Given the description of an element on the screen output the (x, y) to click on. 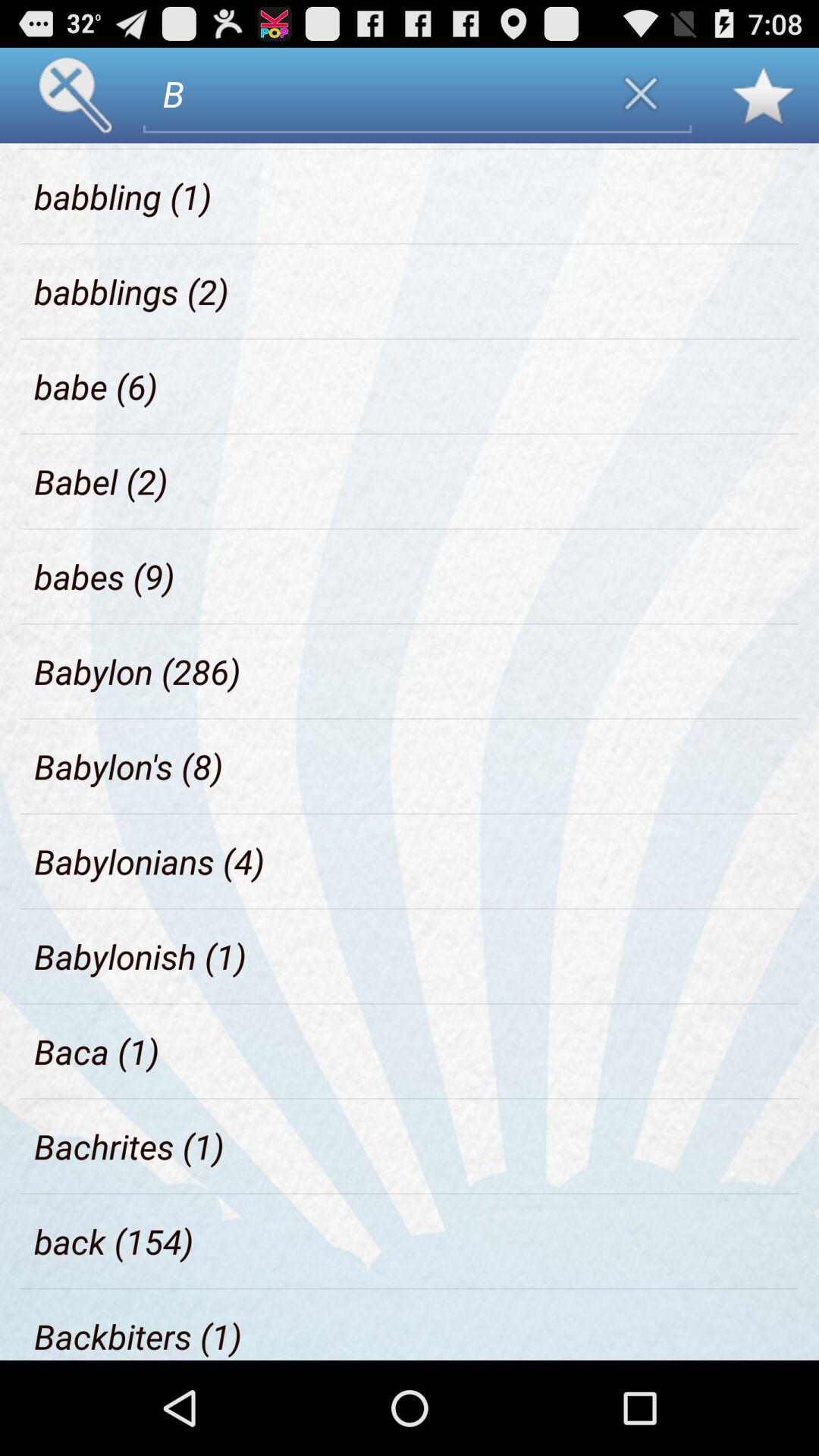
turn off backbiters (1) (138, 1336)
